Given the description of an element on the screen output the (x, y) to click on. 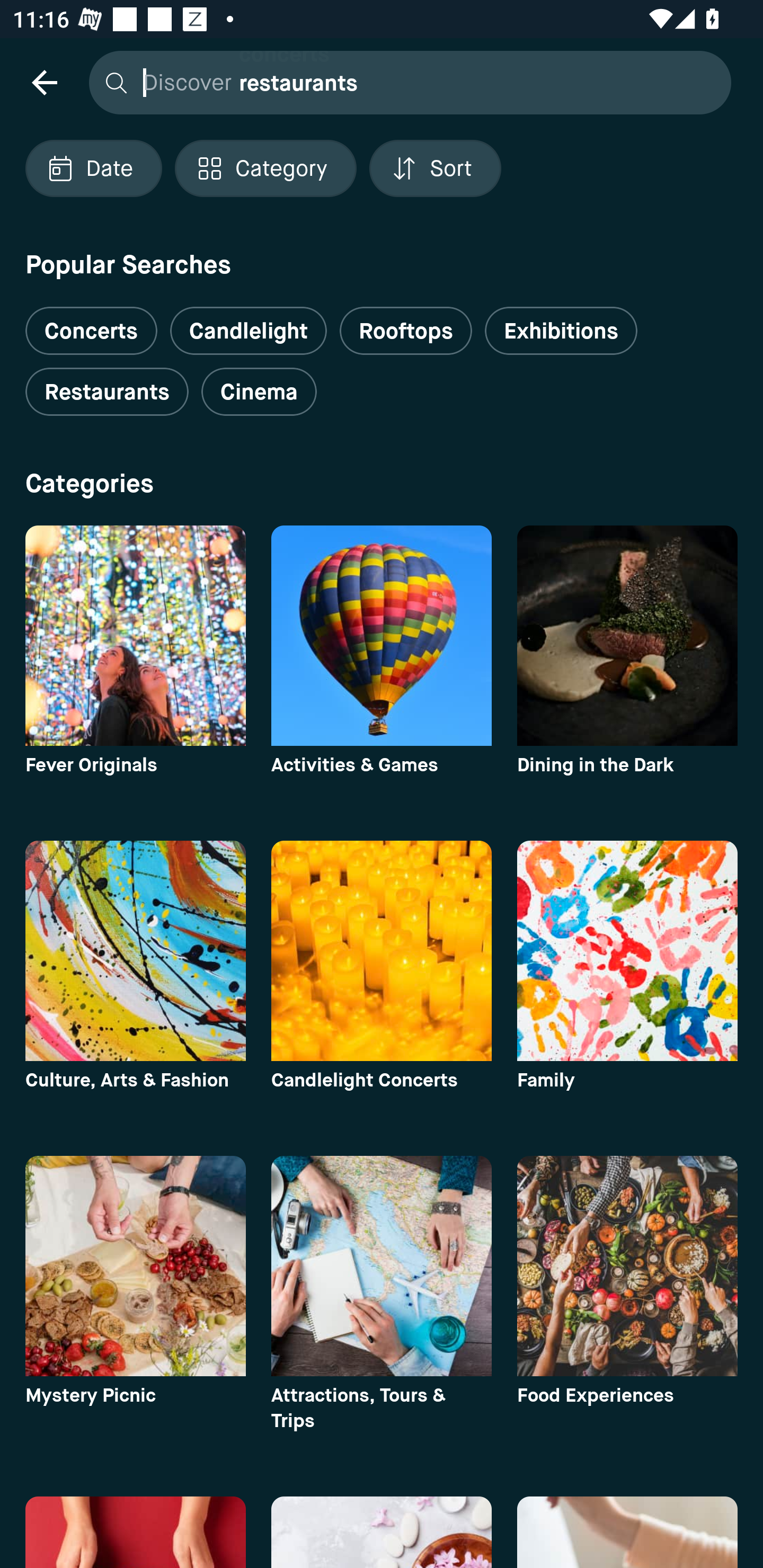
navigation icon (44, 81)
Discover concerts restaurants (405, 81)
Localized description Date (93, 168)
Localized description Category (265, 168)
Localized description Sort (435, 168)
Concerts (91, 323)
Candlelight (248, 330)
Rooftops (405, 330)
Exhibitions (560, 330)
Restaurants (106, 391)
Cinema (258, 391)
category image (135, 635)
category image (381, 635)
category image (627, 635)
category image (135, 950)
category image (381, 950)
category image (627, 950)
category image (135, 1265)
category image (381, 1265)
category image (627, 1265)
